Given the description of an element on the screen output the (x, y) to click on. 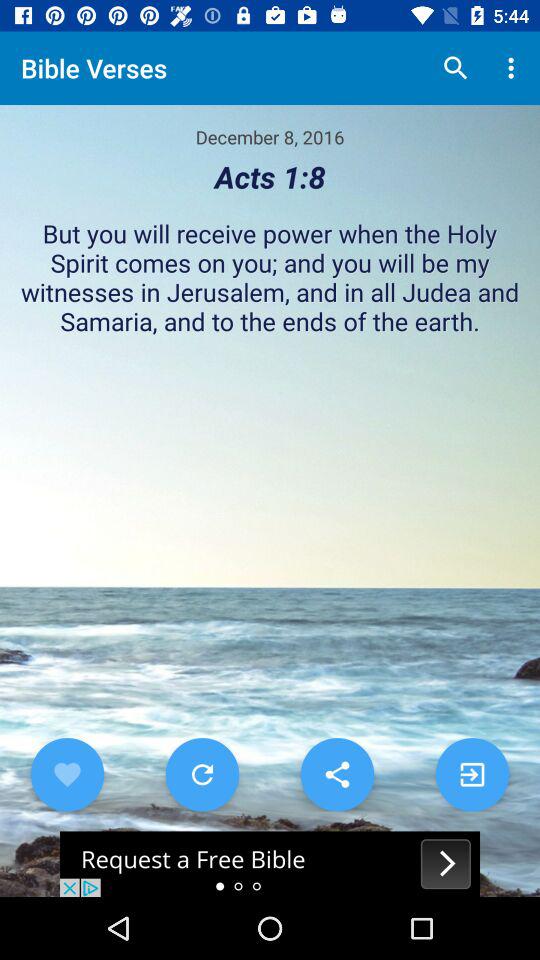
sharing options (337, 774)
